Given the description of an element on the screen output the (x, y) to click on. 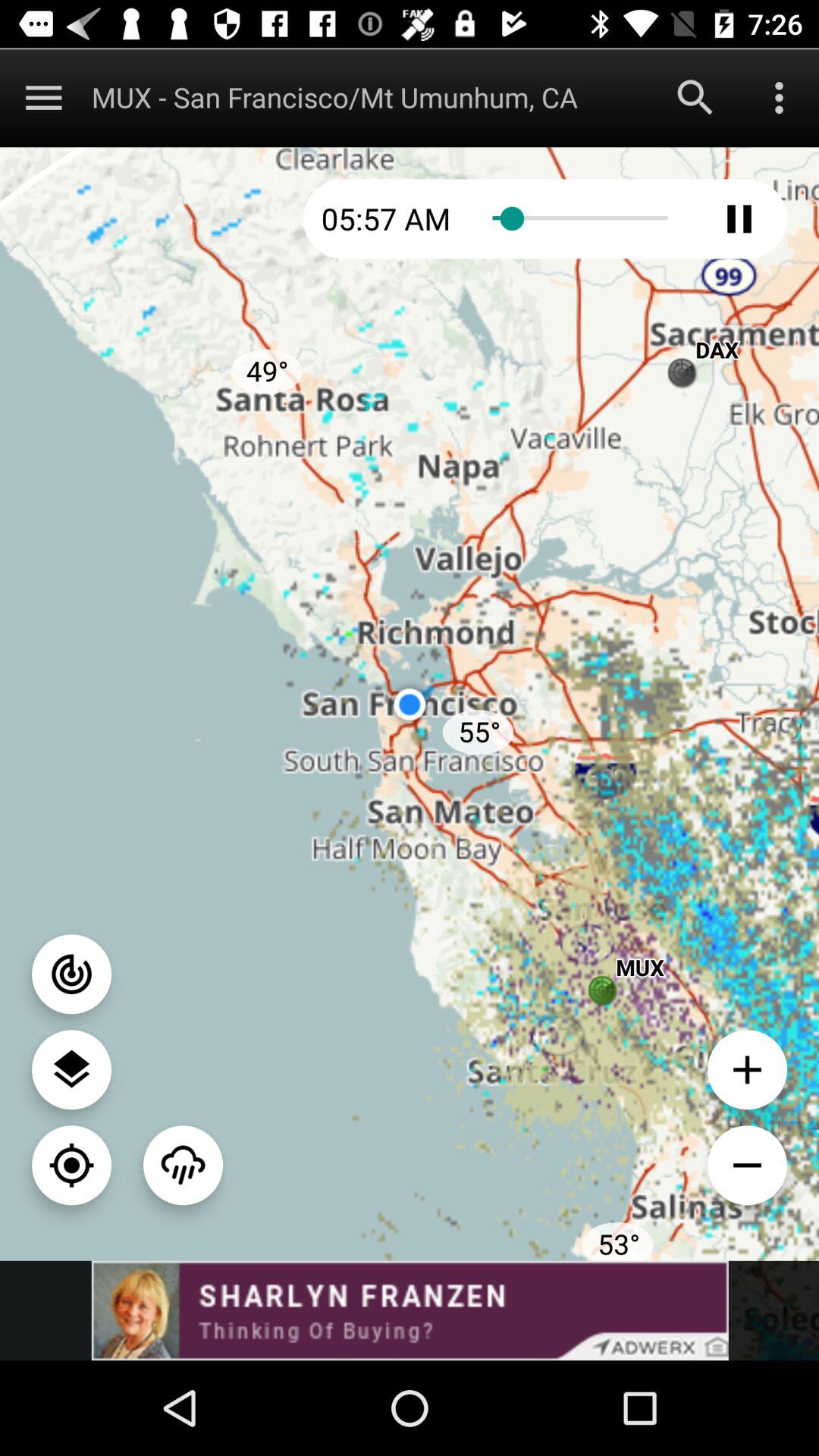
pley button (739, 218)
